Given the description of an element on the screen output the (x, y) to click on. 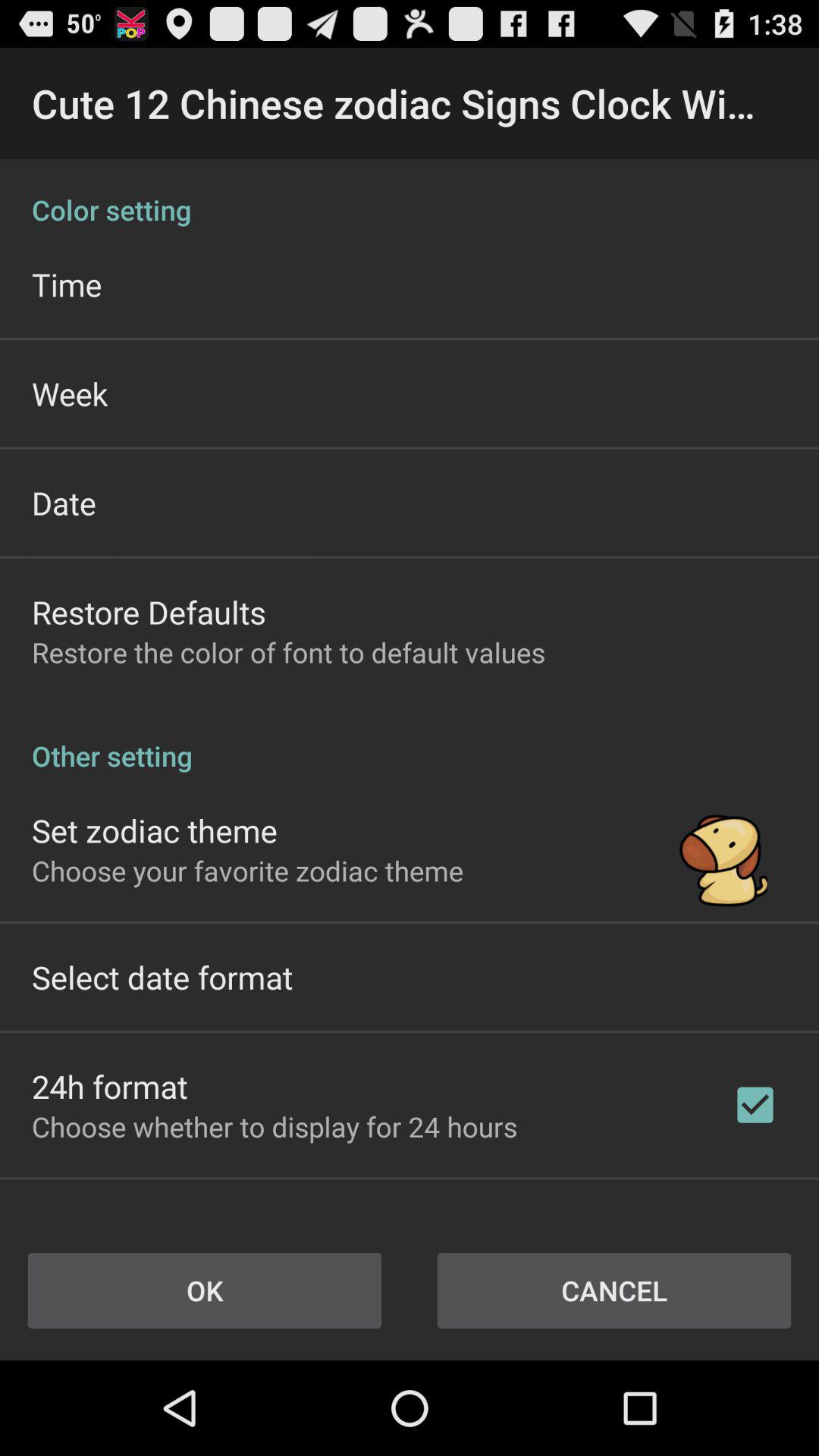
select the last tick box (755, 1105)
select the cancel button which is beside to ok button and below the 24 h format (614, 1290)
